Given the description of an element on the screen output the (x, y) to click on. 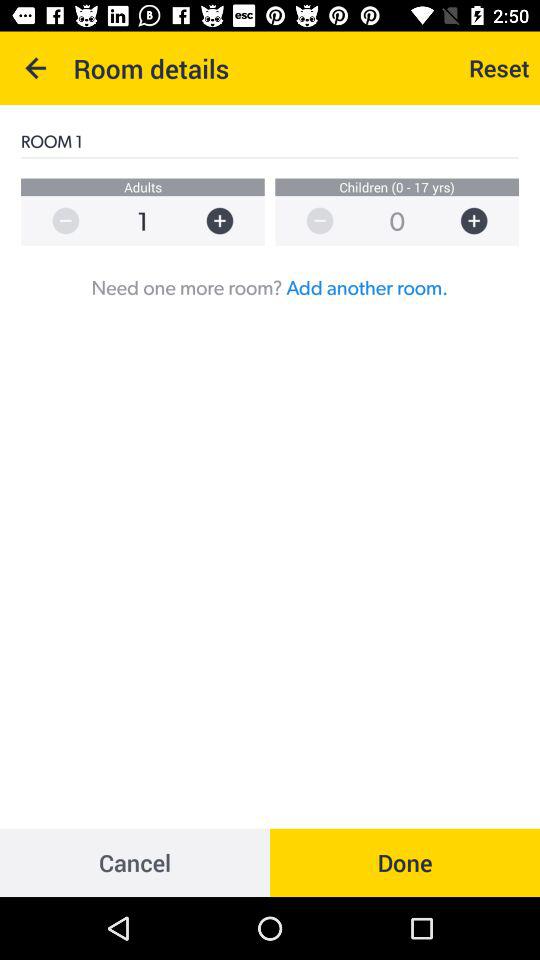
add children to room order (484, 220)
